Given the description of an element on the screen output the (x, y) to click on. 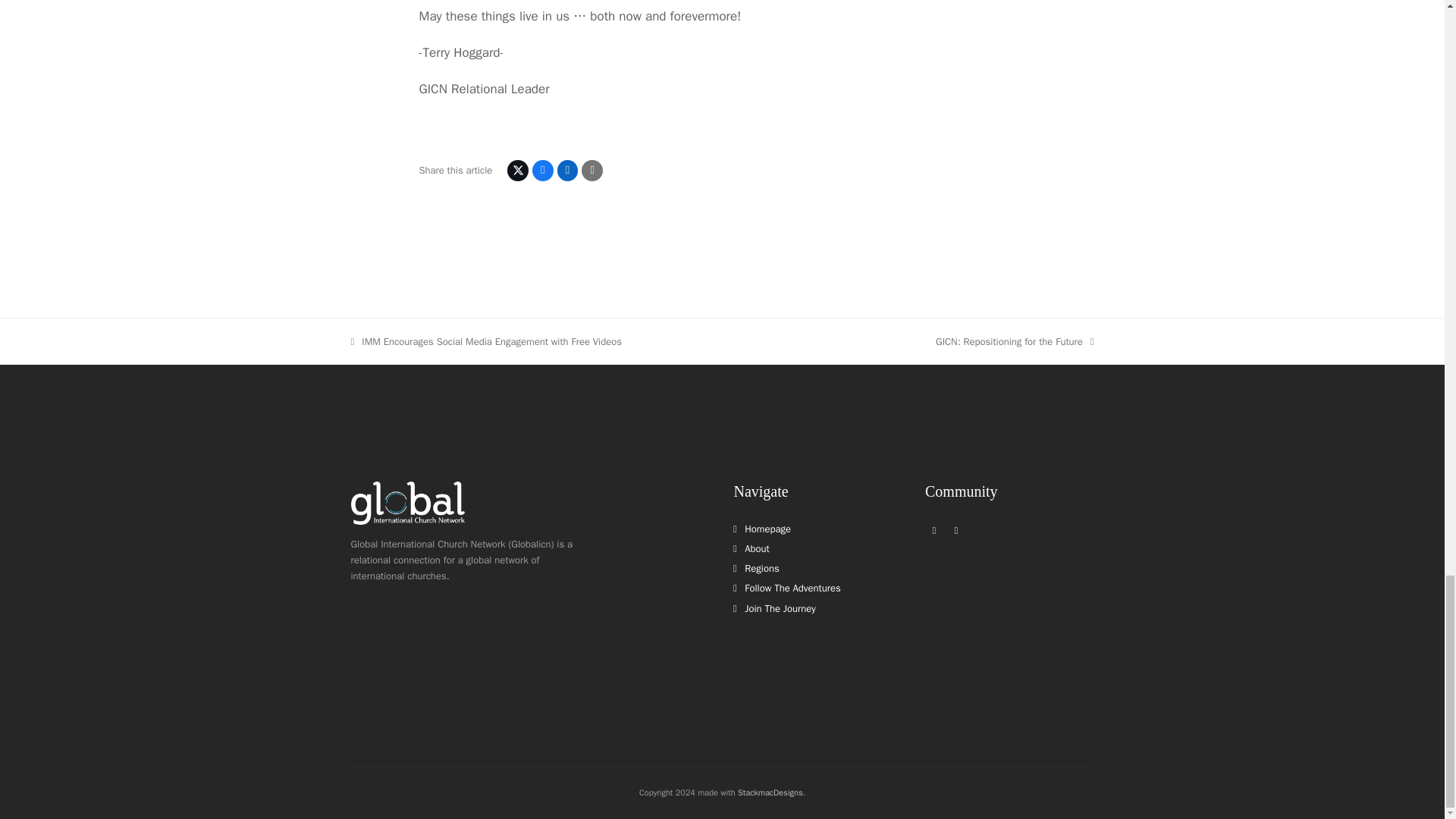
Facebook (933, 529)
Email (956, 529)
Follow The Adventures (1014, 341)
About (786, 587)
Join The Journey (750, 548)
StackmacDesigns (774, 608)
Facebook (770, 792)
Regions (933, 529)
